Given the description of an element on the screen output the (x, y) to click on. 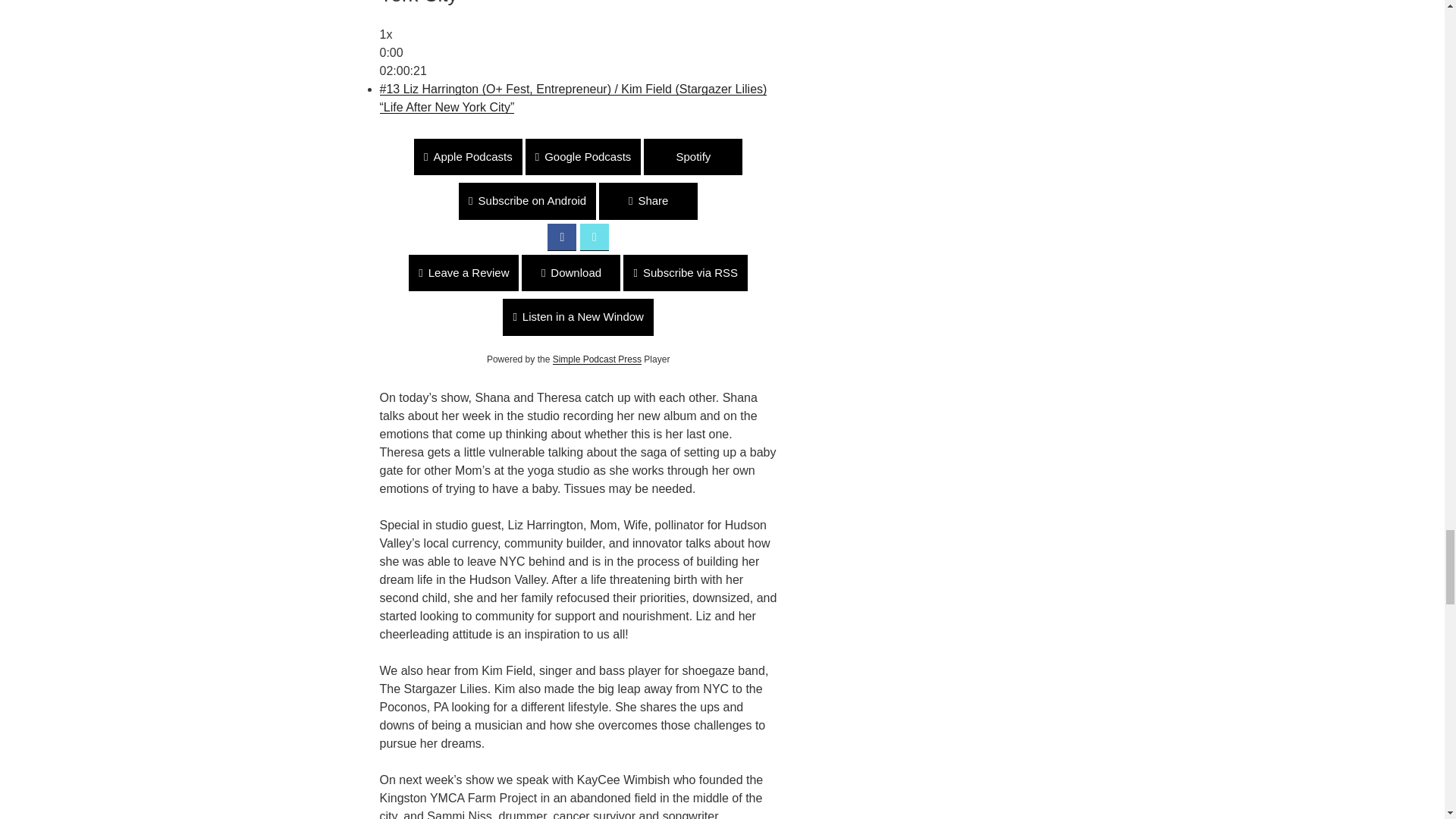
Share on Twitter (593, 236)
Share on Facebook (561, 236)
